Given the description of an element on the screen output the (x, y) to click on. 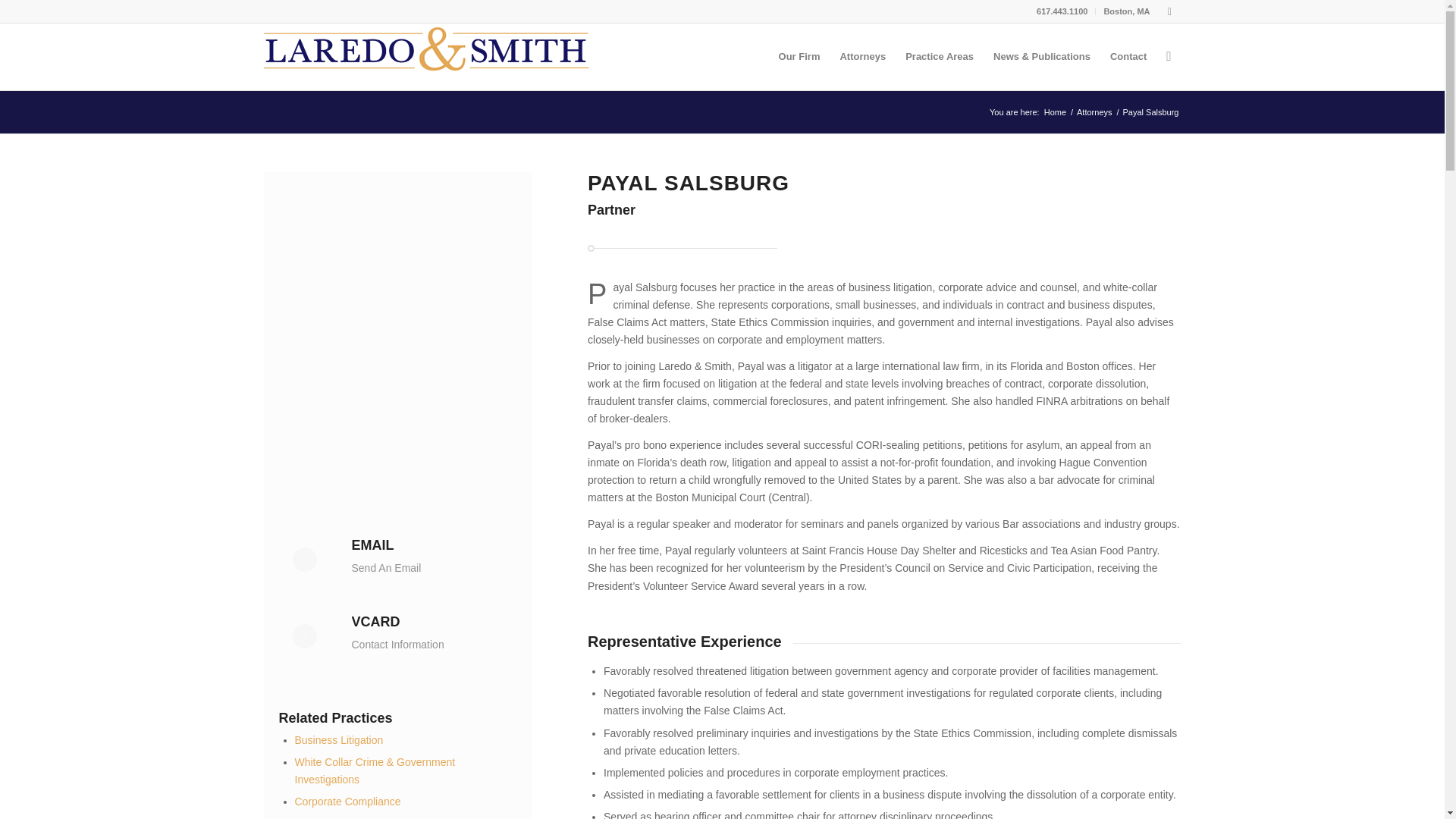
VCARD (376, 621)
Boston, MA (1126, 11)
Home (1055, 112)
Our Firm (798, 56)
Corporate Compliance (347, 801)
LinkedIn (1169, 11)
Attorneys (1093, 112)
Attorneys (862, 56)
Practice Areas (939, 56)
vCard (376, 621)
